Given the description of an element on the screen output the (x, y) to click on. 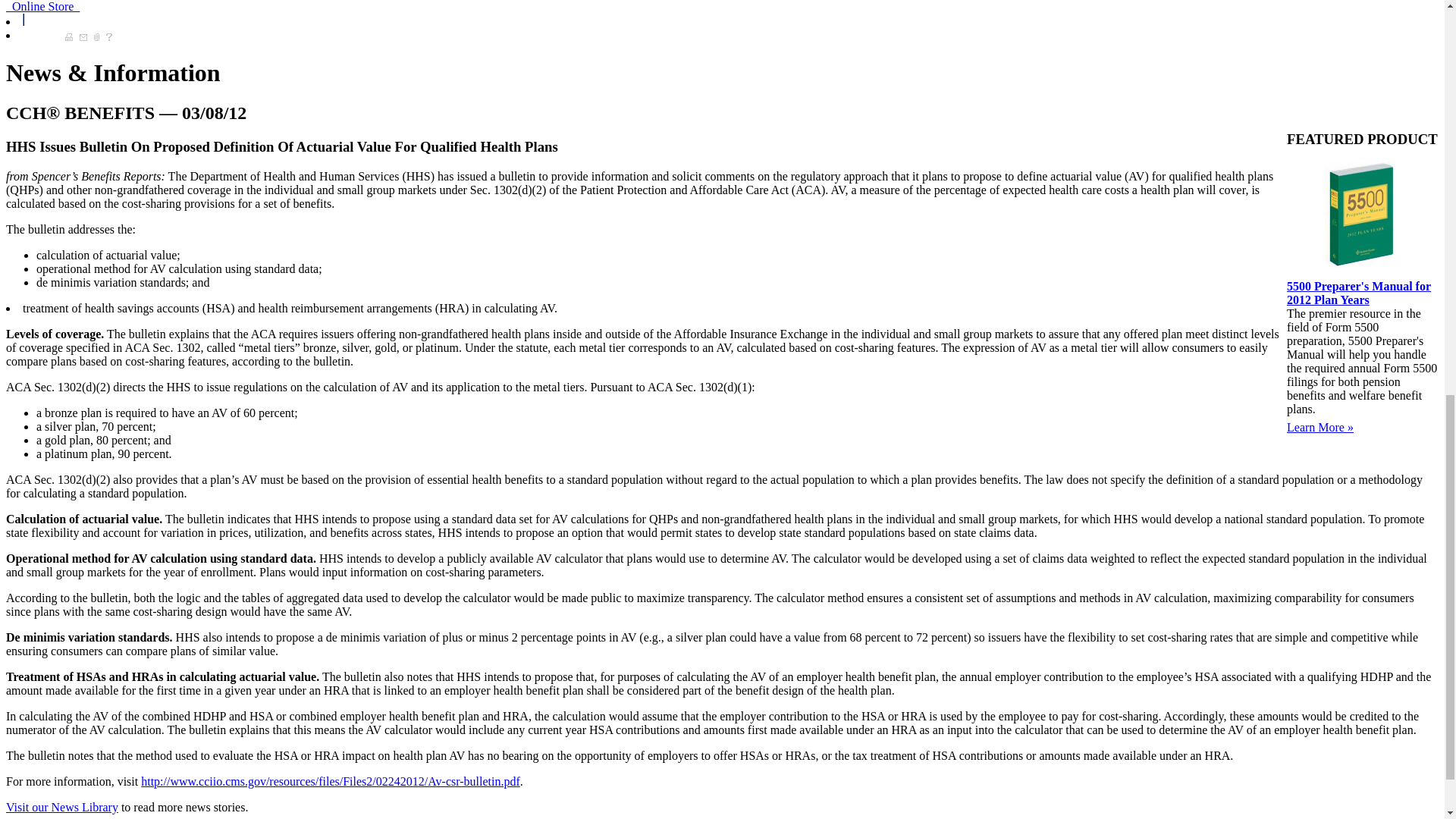
5500 Preparer's Manual for 2012 Plan Years (1359, 292)
Visit our News Library (61, 807)
